Given the description of an element on the screen output the (x, y) to click on. 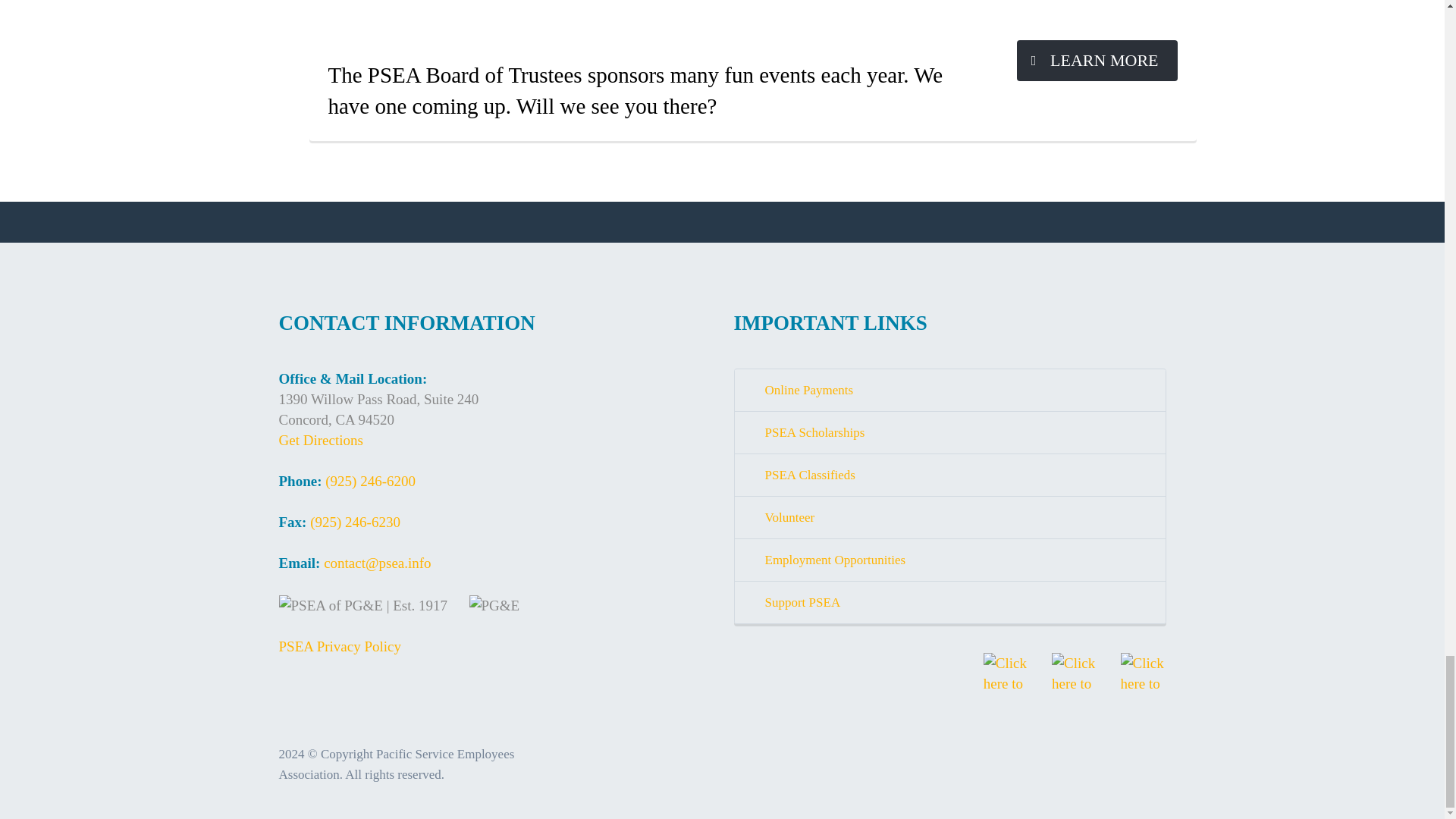
Click here to follow us on Facebook (1006, 675)
Click here to find us on X (1074, 675)
Click here to find us on Instagram (1143, 675)
